Given the description of an element on the screen output the (x, y) to click on. 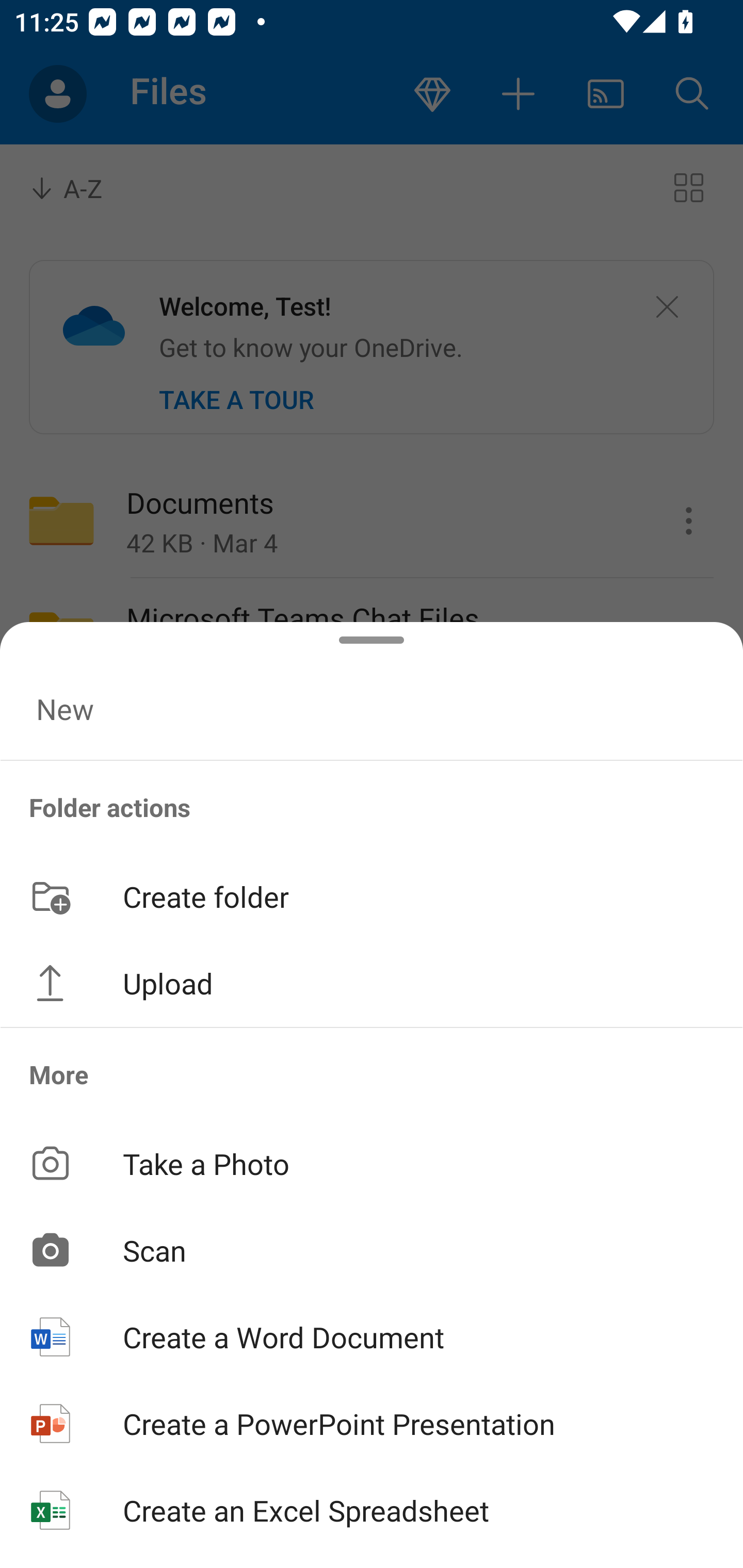
Create folder button Create folder (371, 895)
Upload button Upload (371, 983)
Take a Photo button Take a Photo (371, 1163)
Scan button Scan (371, 1250)
